Given the description of an element on the screen output the (x, y) to click on. 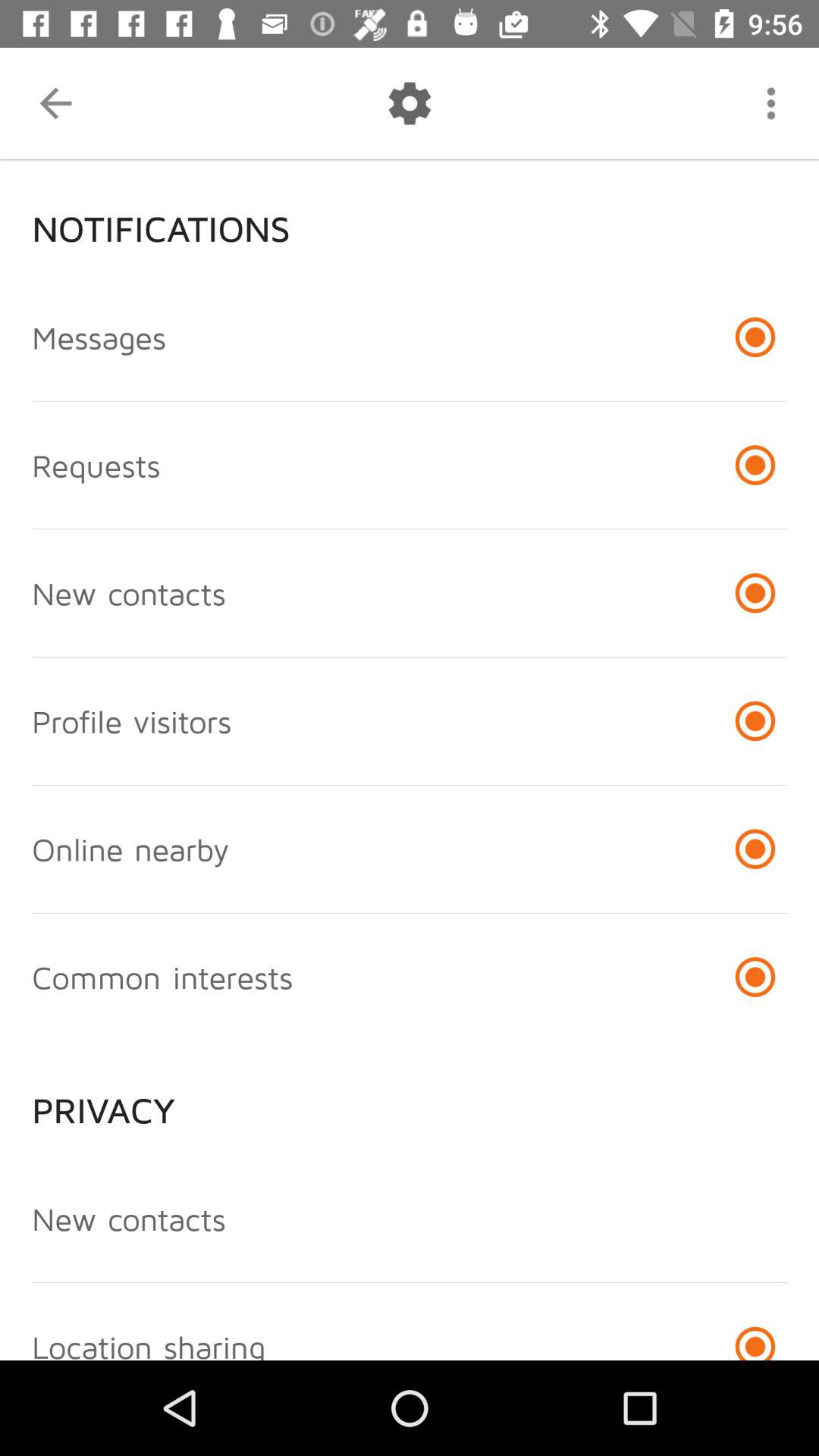
flip to the online nearby icon (130, 848)
